Given the description of an element on the screen output the (x, y) to click on. 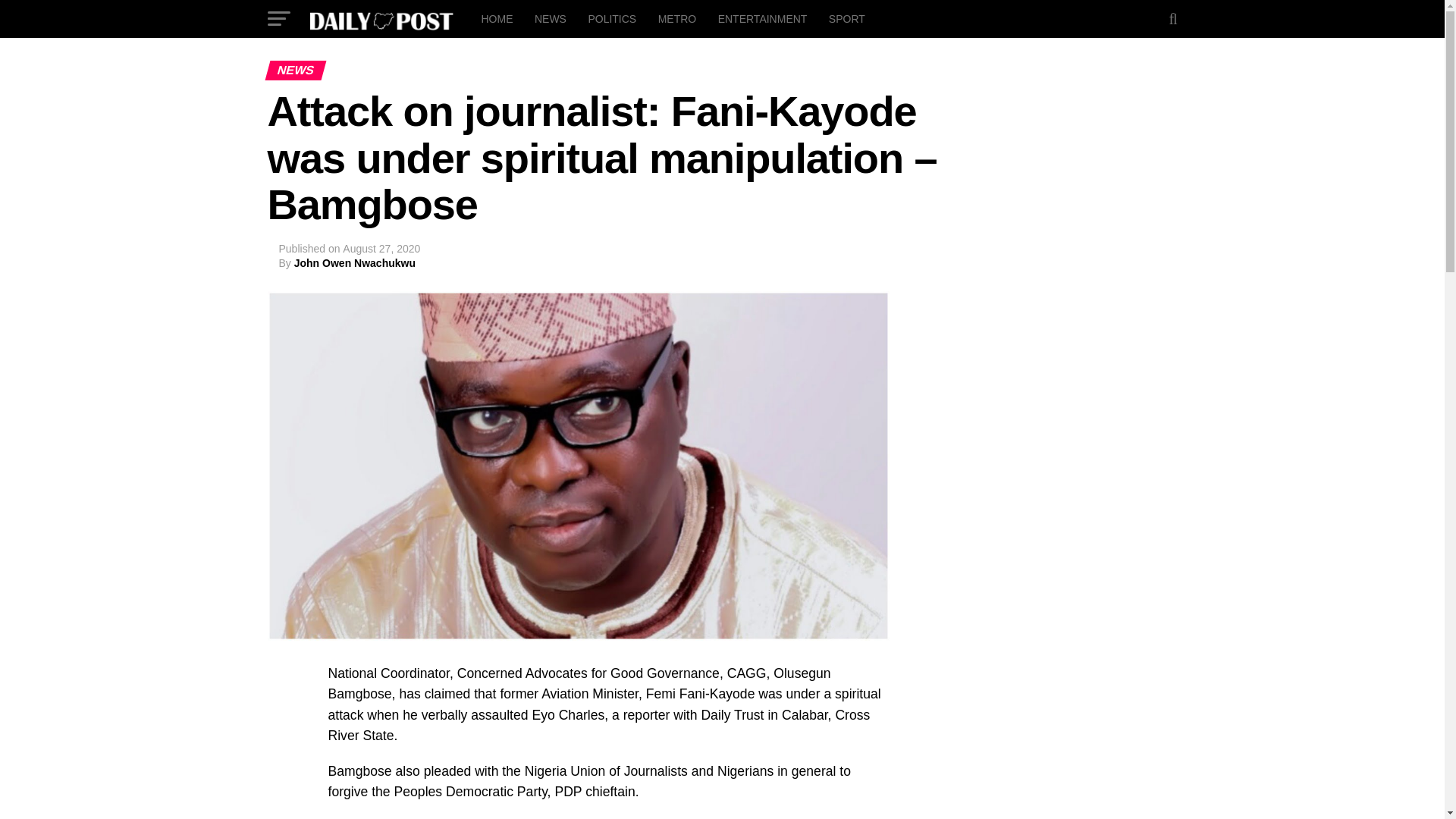
John Owen Nwachukwu (354, 263)
SPORT (847, 18)
ENTERTAINMENT (762, 18)
POLITICS (611, 18)
METRO (677, 18)
NEWS (550, 18)
HOME (496, 18)
Posts by John Owen Nwachukwu (354, 263)
